Given the description of an element on the screen output the (x, y) to click on. 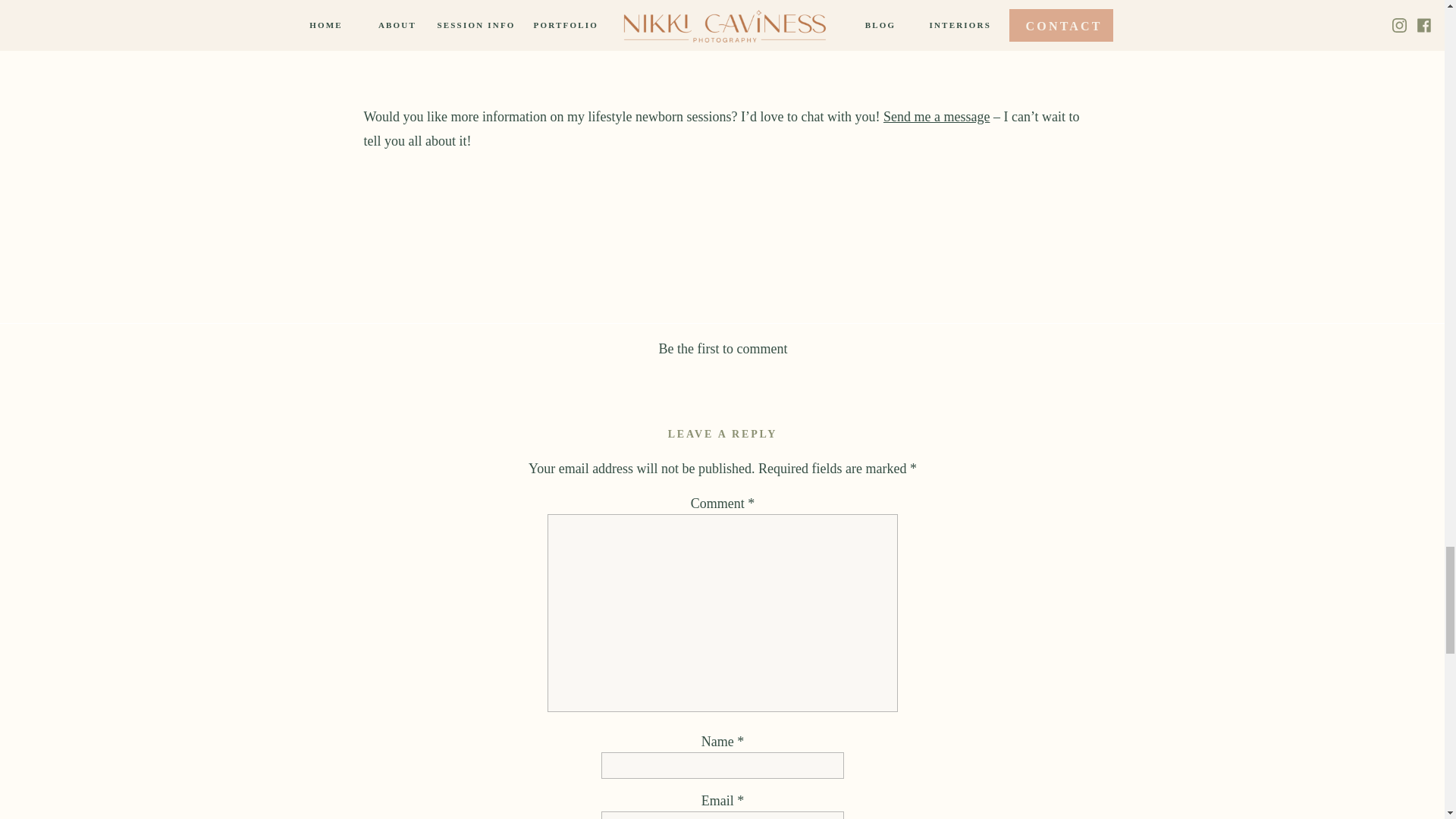
so reach out to schedule (736, 1)
Be the first to comment (723, 348)
Send me a message (936, 116)
